Given the description of an element on the screen output the (x, y) to click on. 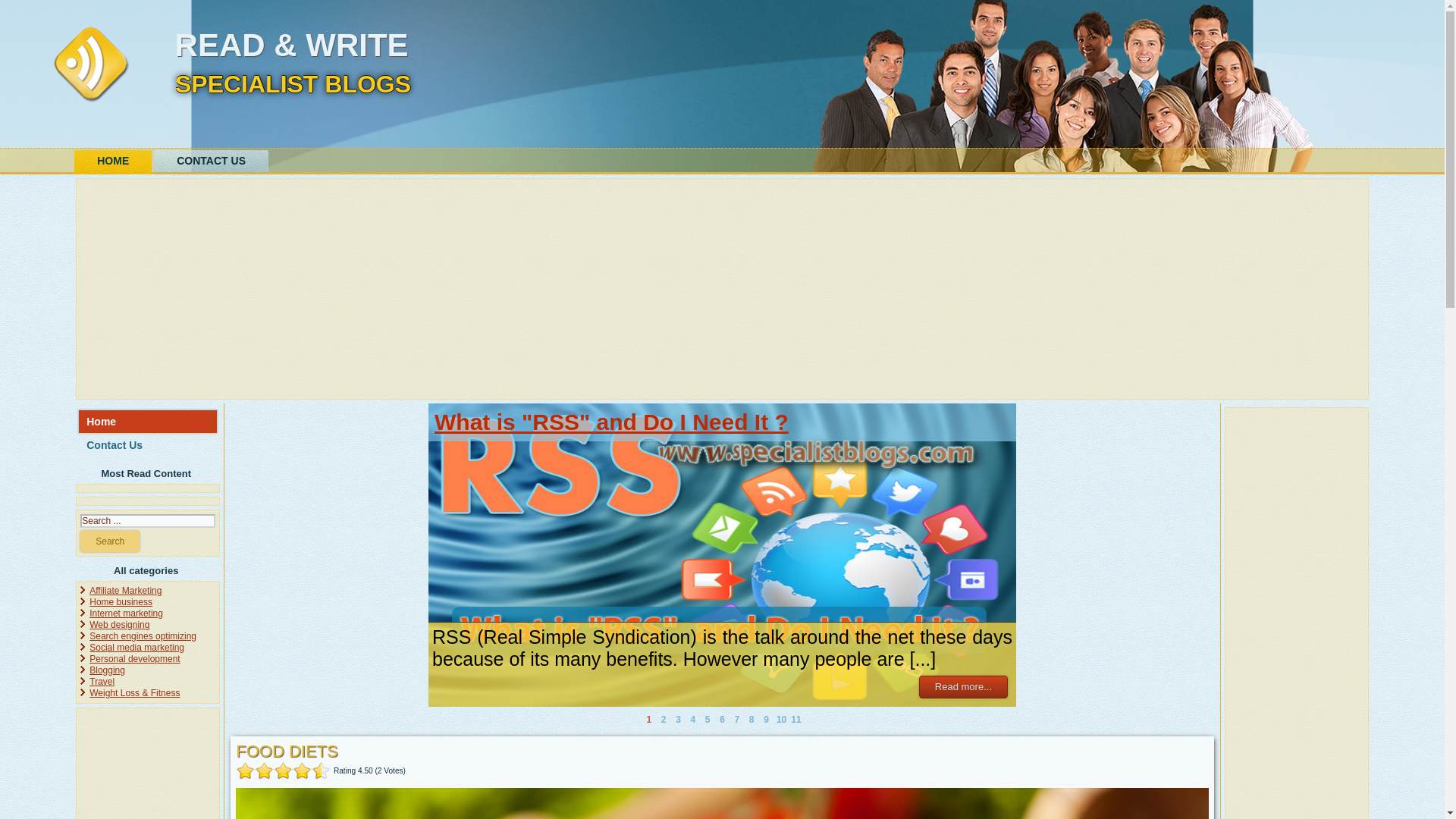
HOME (112, 161)
5 out of 5 (282, 770)
2 out of 5 (254, 770)
Social media marketing (136, 647)
CONTACT US (210, 160)
Blogging (106, 670)
Search engines optimizing (142, 635)
2.5 out of 5 (259, 770)
Personal development (133, 658)
Affiliate Marketing (124, 590)
Internet marketing (125, 613)
1 out of 5 (244, 770)
3 out of 5 (263, 770)
4.5 out of 5 (278, 770)
Search (109, 541)
